Given the description of an element on the screen output the (x, y) to click on. 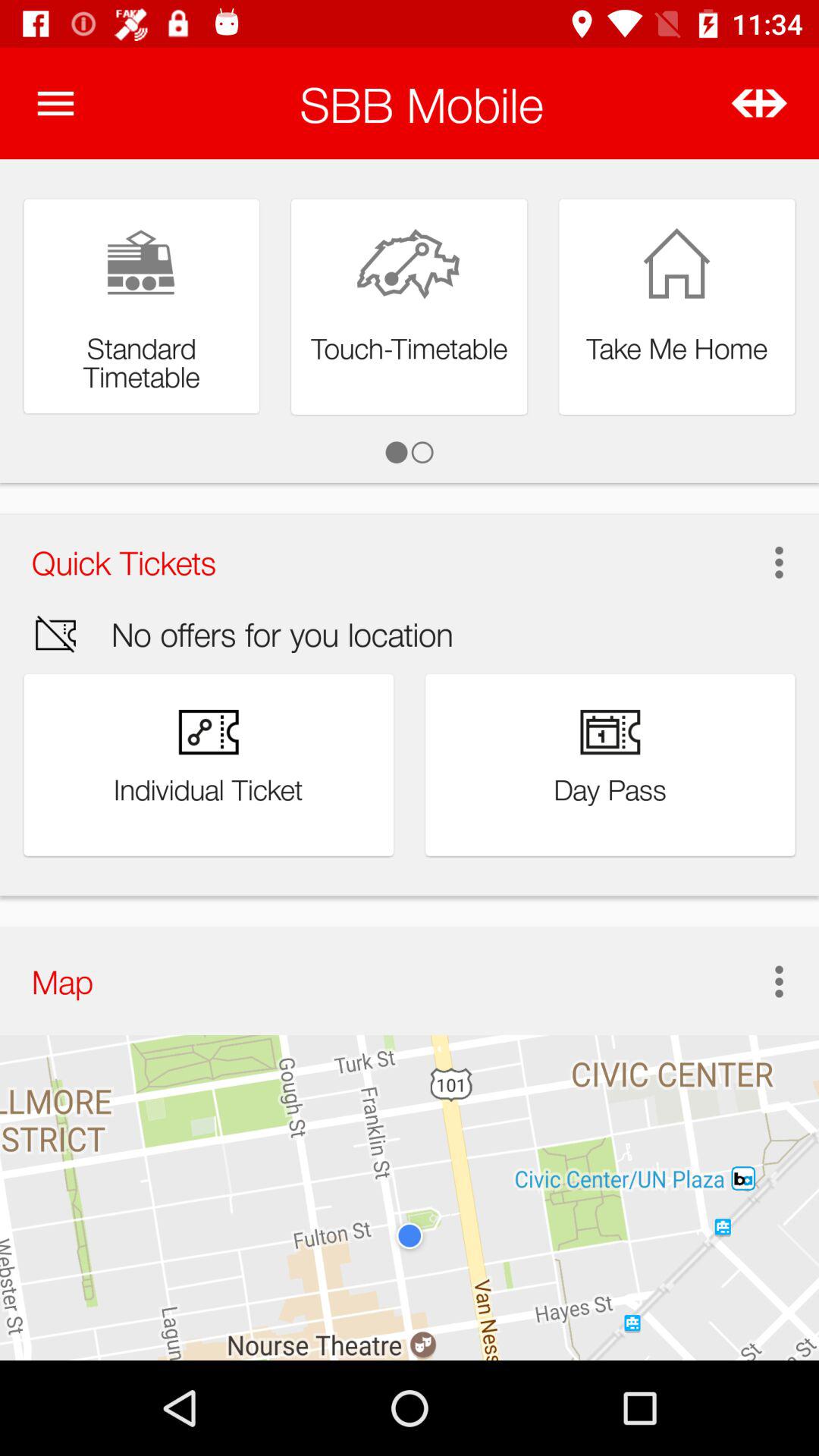
open the icon to the left of the sbb mobile icon (55, 103)
